Given the description of an element on the screen output the (x, y) to click on. 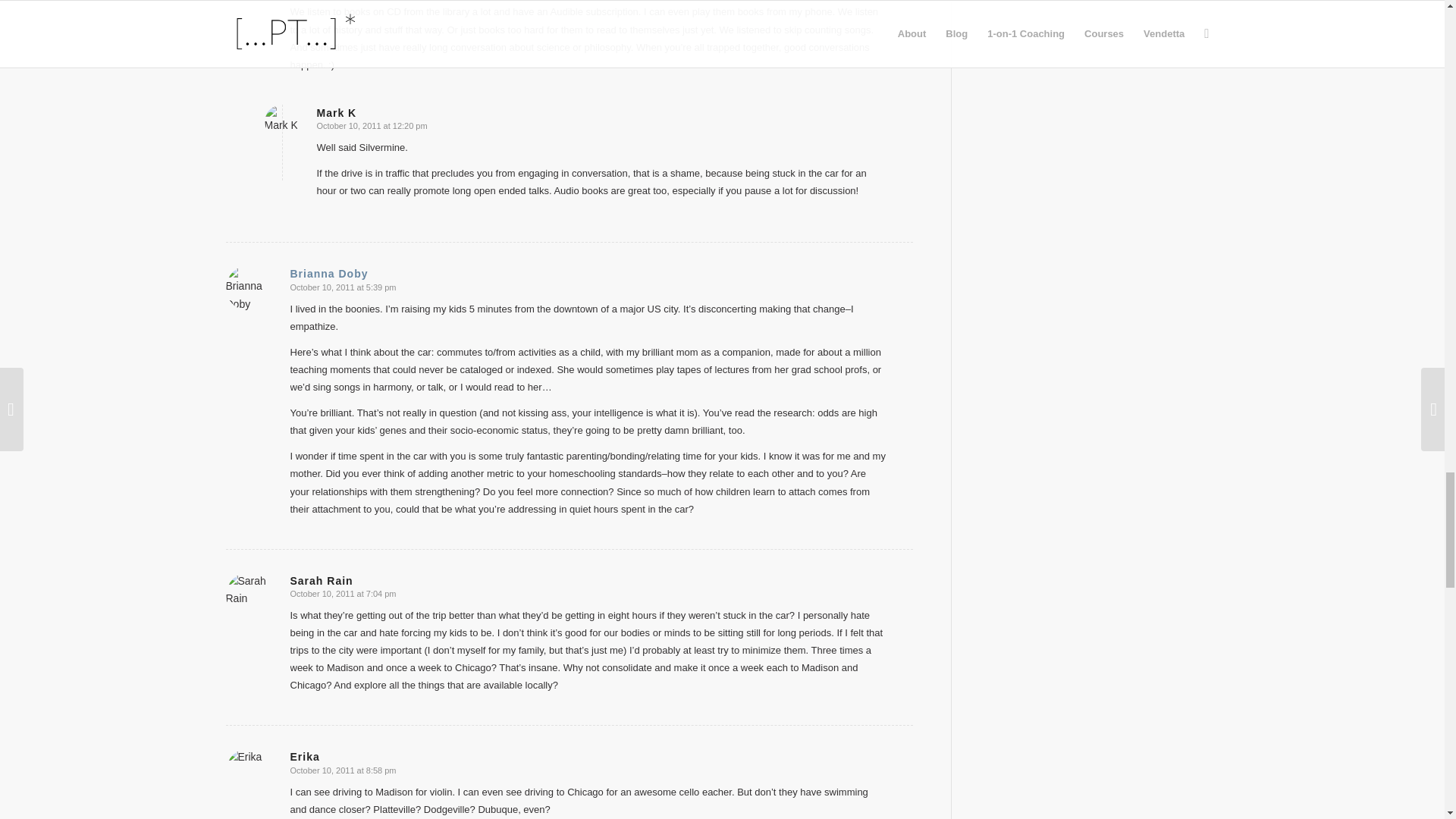
October 10, 2011 at 8:58 pm (342, 769)
October 10, 2011 at 12:20 pm (372, 125)
Brianna Doby (328, 273)
October 10, 2011 at 7:04 pm (342, 593)
October 10, 2011 at 5:39 pm (342, 286)
